Given the description of an element on the screen output the (x, y) to click on. 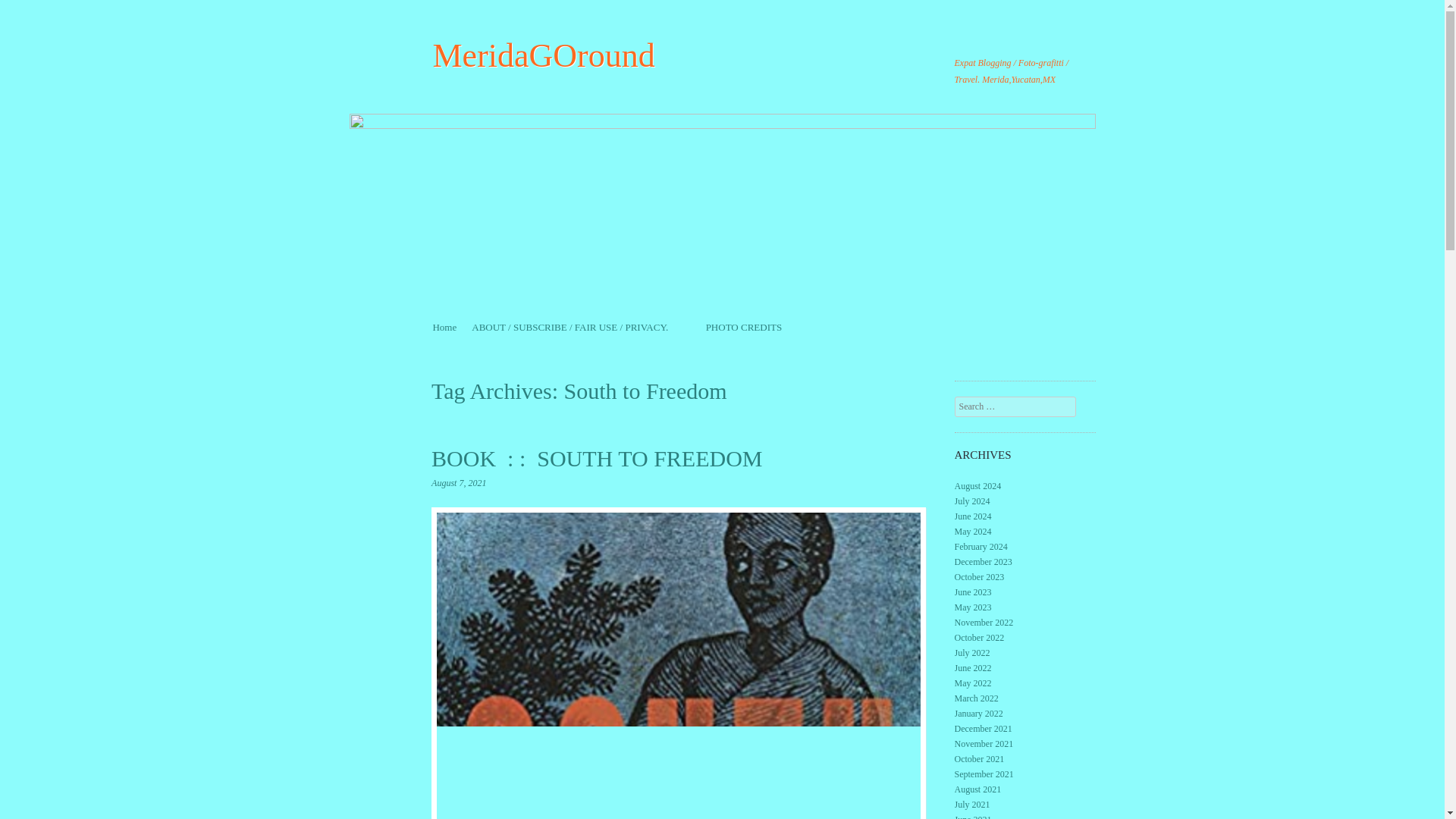
February 2024 (981, 546)
May 2024 (973, 531)
MeridaGOround (542, 55)
Skip to content (462, 326)
Search (32, 11)
December 2023 (983, 561)
BOOK  : :  SOUTH TO FREEDOM (595, 457)
May 2023 (973, 606)
August 2024 (978, 485)
June 2022 (973, 667)
